Given the description of an element on the screen output the (x, y) to click on. 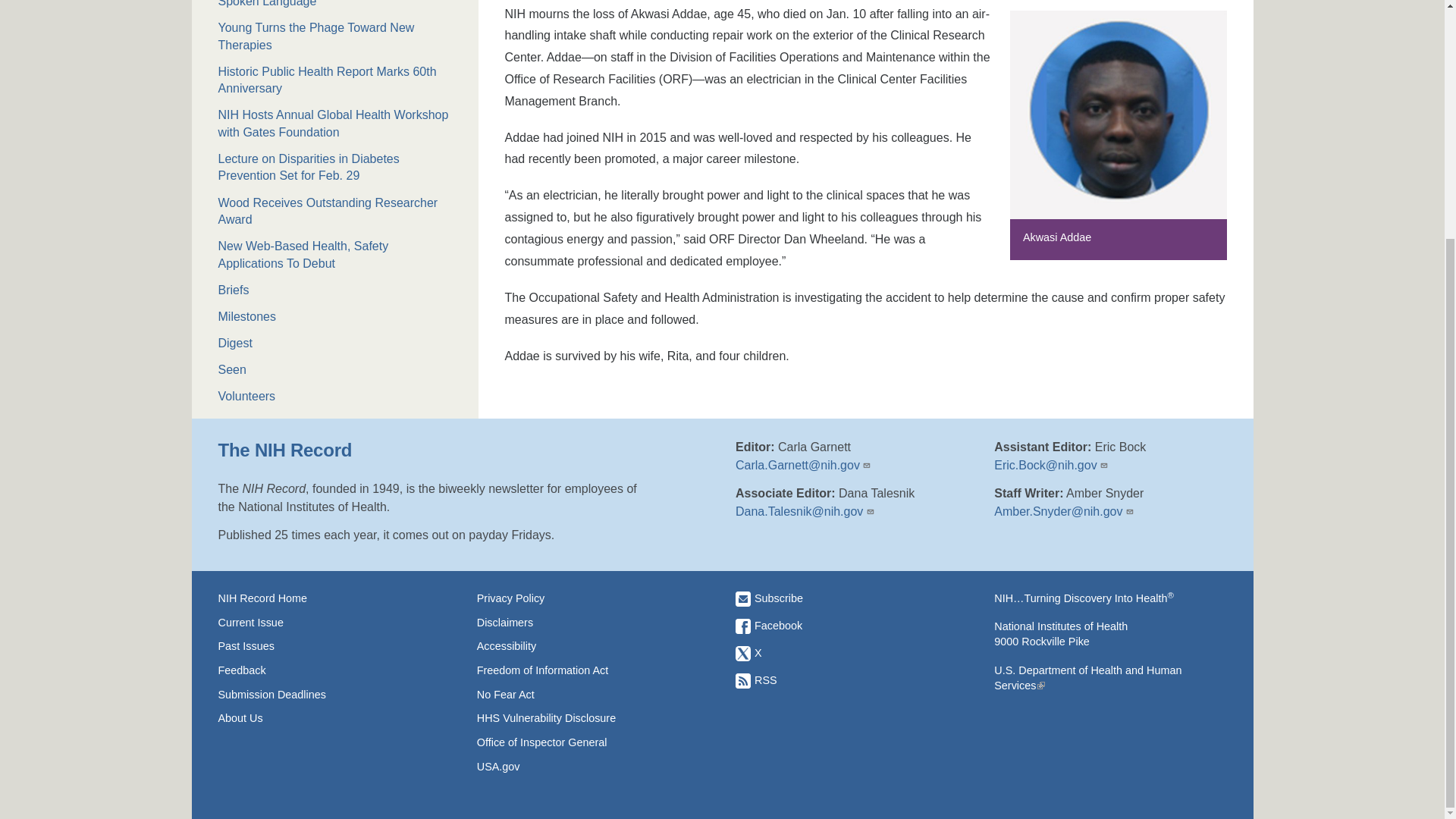
Seen (334, 369)
Milestones (334, 316)
Digest (334, 343)
Songbirds Begin to Reveal Mysteries of Spoken Language (334, 5)
Volunteers (334, 396)
Young Turns the Phage Toward New Therapies (334, 36)
Wood Receives Outstanding Researcher Award (334, 211)
Briefs (334, 289)
New Web-Based Health, Safety Applications To Debut (334, 254)
Historic Public Health Report Marks 60th Anniversary (334, 80)
